Given the description of an element on the screen output the (x, y) to click on. 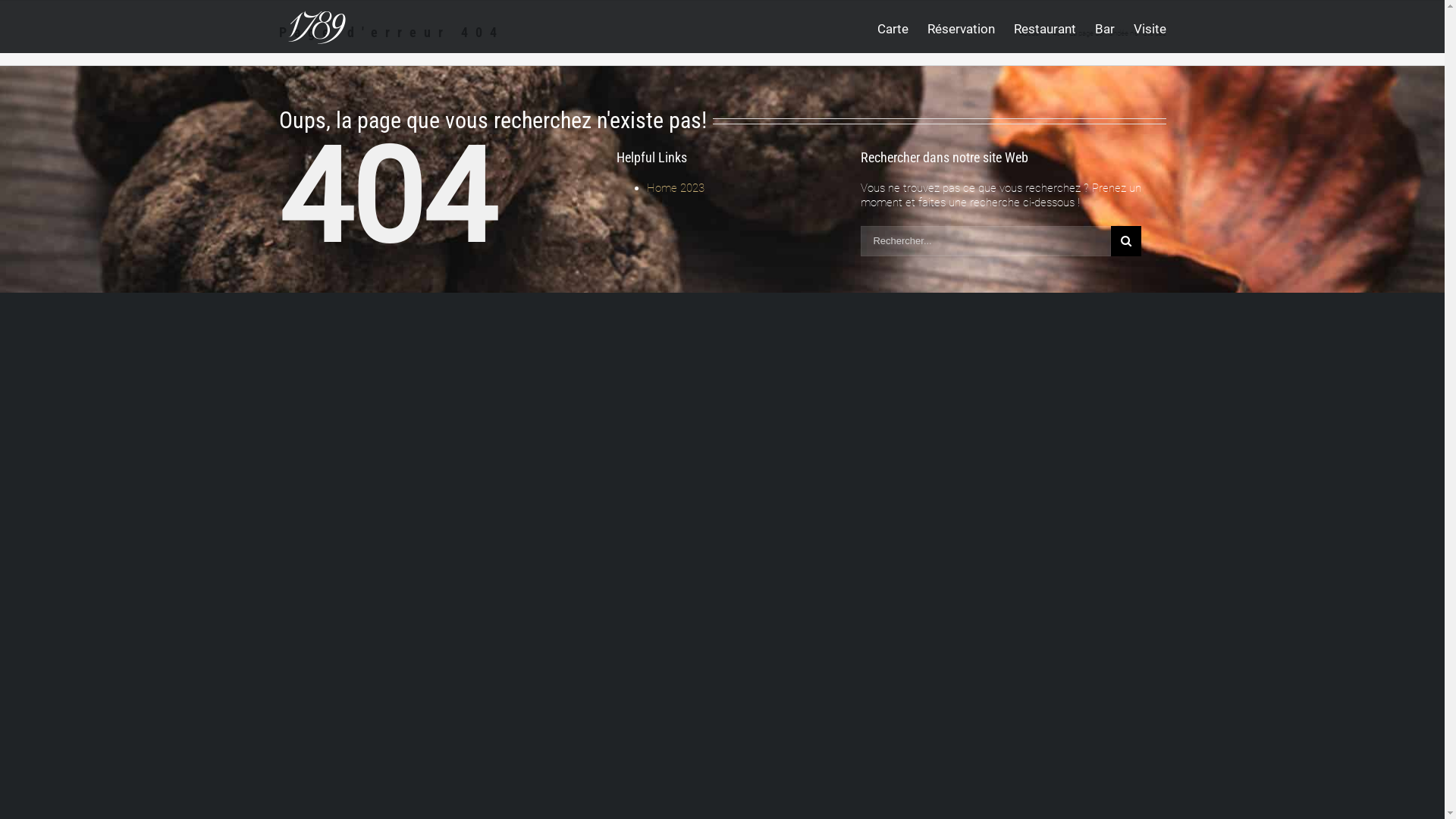
Visite Element type: text (1148, 26)
Carte Element type: text (891, 26)
Restaurant Element type: text (1044, 26)
Home 2023 Element type: text (674, 187)
Bar Element type: text (1104, 26)
Accueil Element type: text (1030, 32)
